Given the description of an element on the screen output the (x, y) to click on. 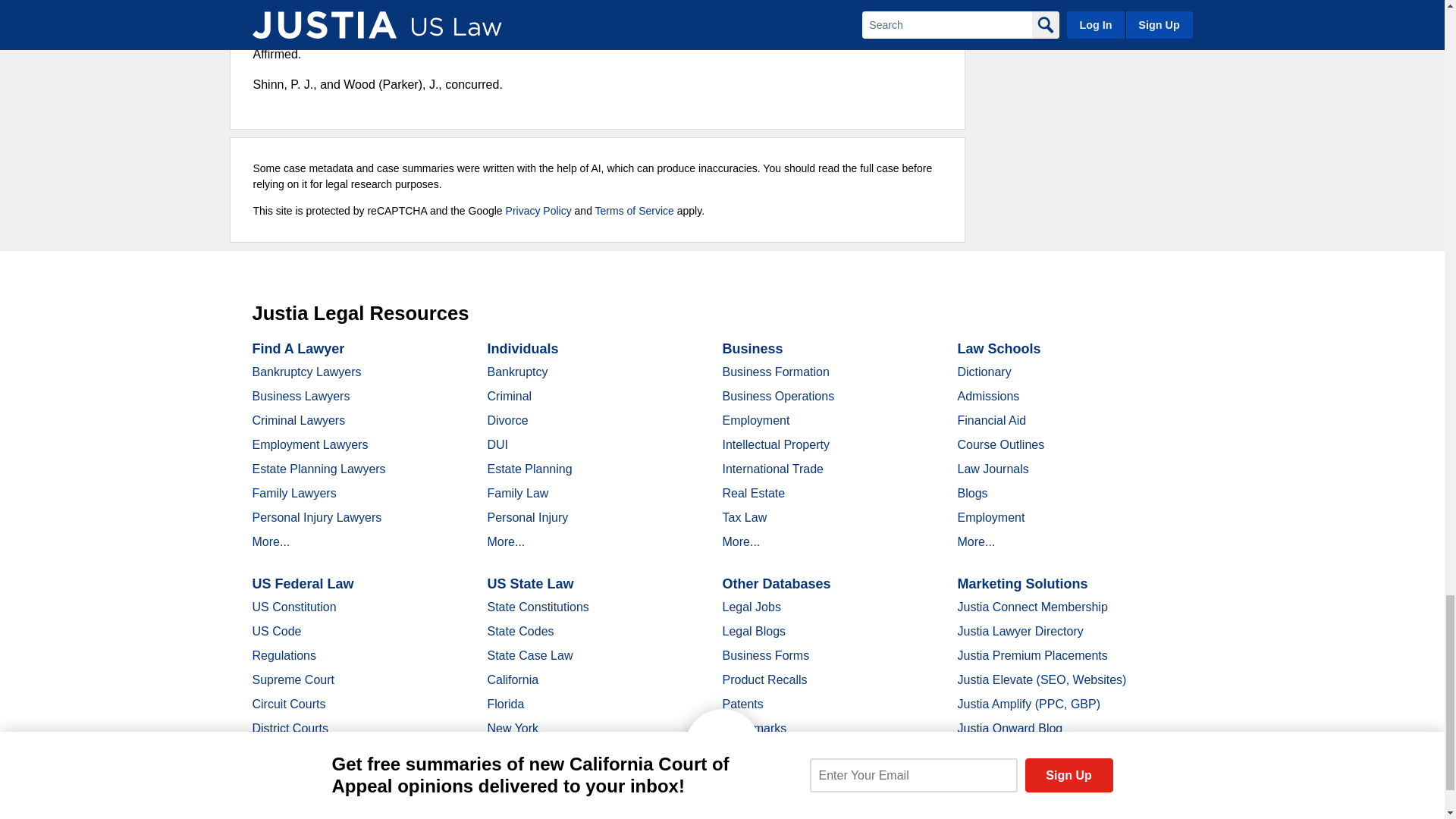
92 Cal. App. 2d 448 (437, 23)
Terms of Service (634, 210)
136 Cal. App. 2d 95 (849, 6)
29 Cal. 2d 228 (589, 6)
Privacy Policy (538, 210)
